Given the description of an element on the screen output the (x, y) to click on. 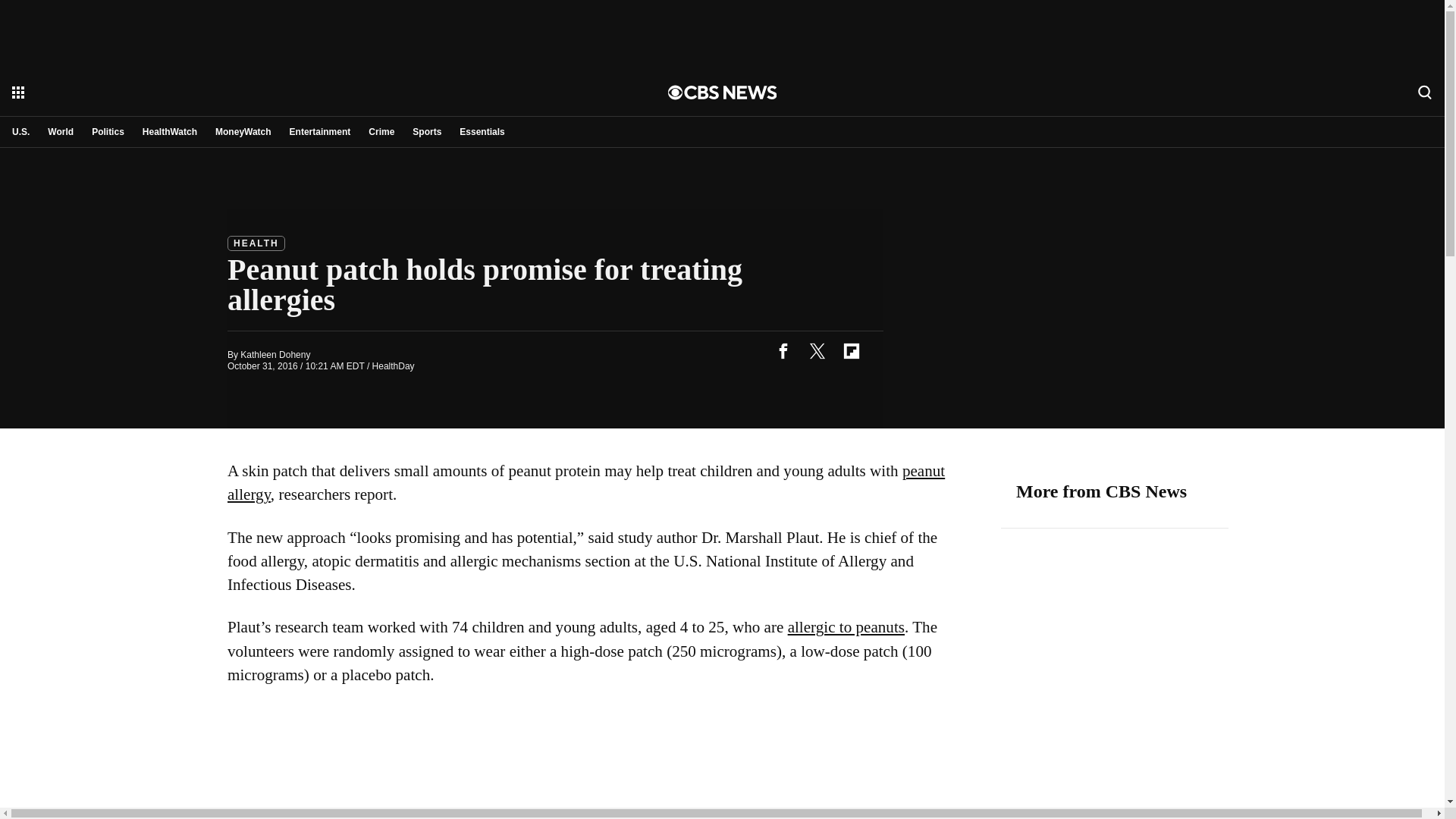
flipboard (850, 350)
facebook (782, 350)
twitter (816, 350)
Video: New hope for avoiding peanut allergies (599, 762)
